Given the description of an element on the screen output the (x, y) to click on. 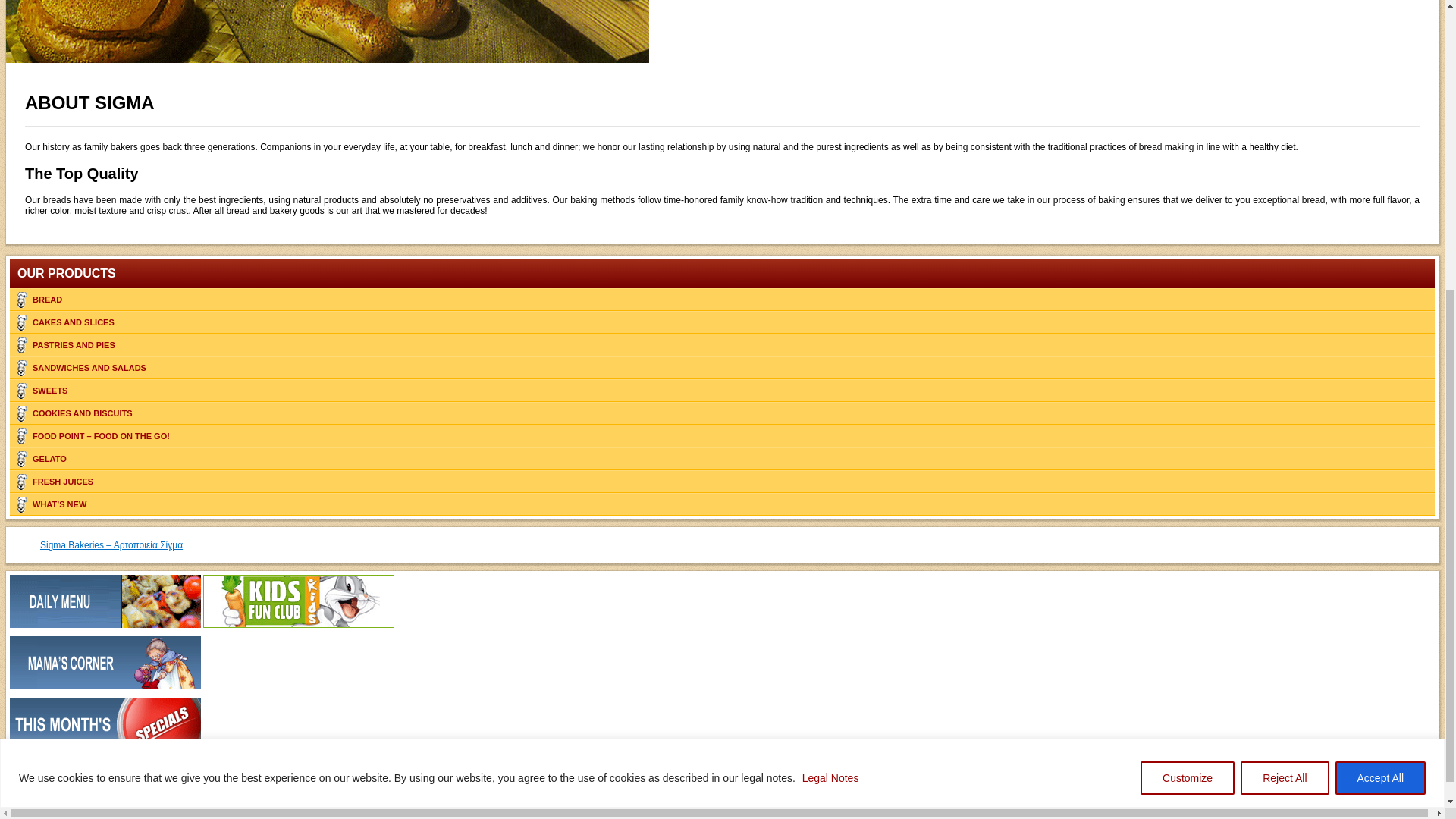
BREAD (722, 299)
Reject All (1283, 319)
COOKIES AND BISCUITS (722, 413)
Legal Notes (831, 318)
Customize (1187, 319)
SANDWICHES AND SALADS (722, 367)
Accept All (1380, 319)
CAKES AND SLICES (722, 322)
SWEETS (722, 390)
PASTRIES AND PIES (722, 344)
